Given the description of an element on the screen output the (x, y) to click on. 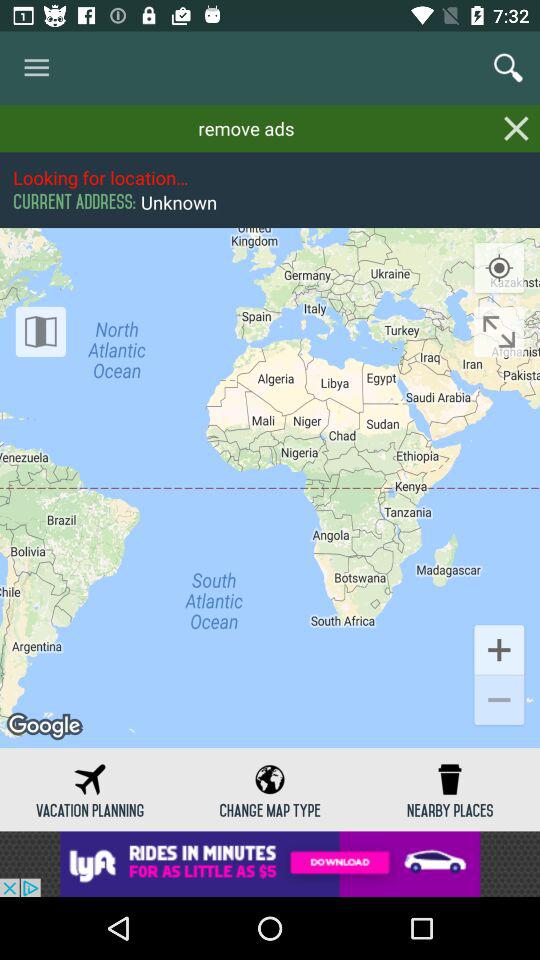
google maps devices (40, 331)
